Given the description of an element on the screen output the (x, y) to click on. 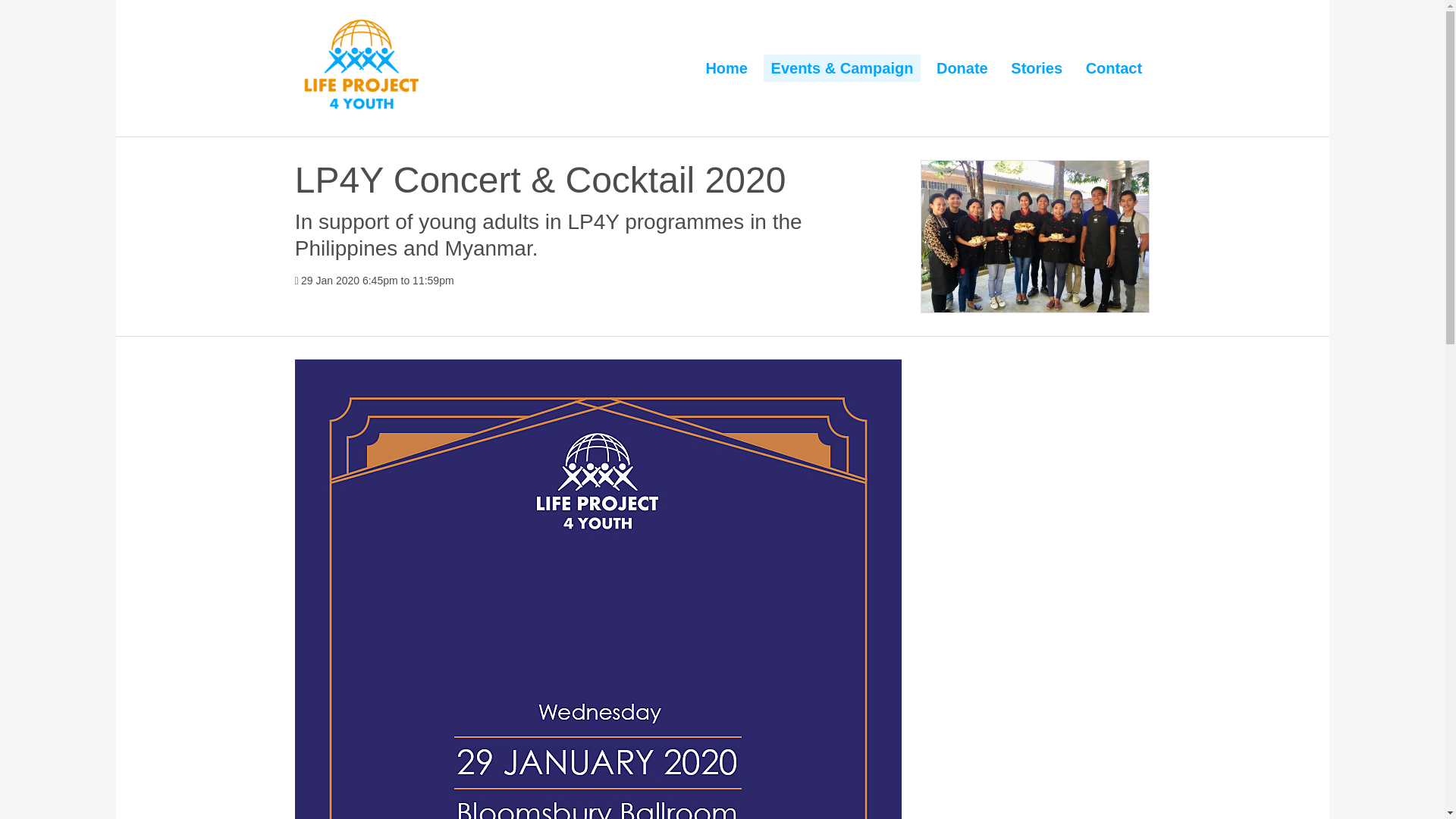
Contact (1114, 67)
Donate (961, 67)
Stories (1036, 67)
Home (726, 67)
